Given the description of an element on the screen output the (x, y) to click on. 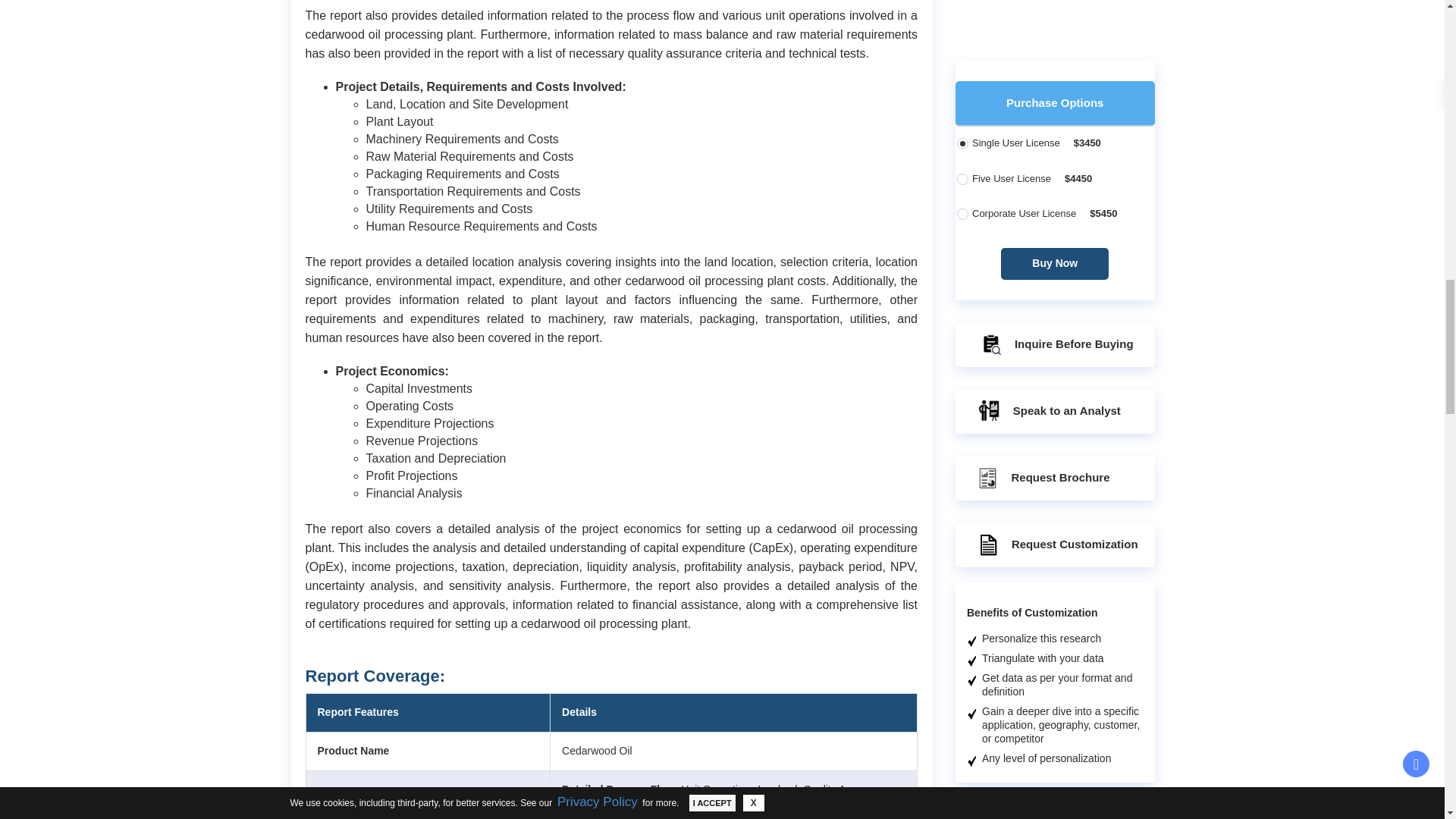
Know more (1081, 2)
